Given the description of an element on the screen output the (x, y) to click on. 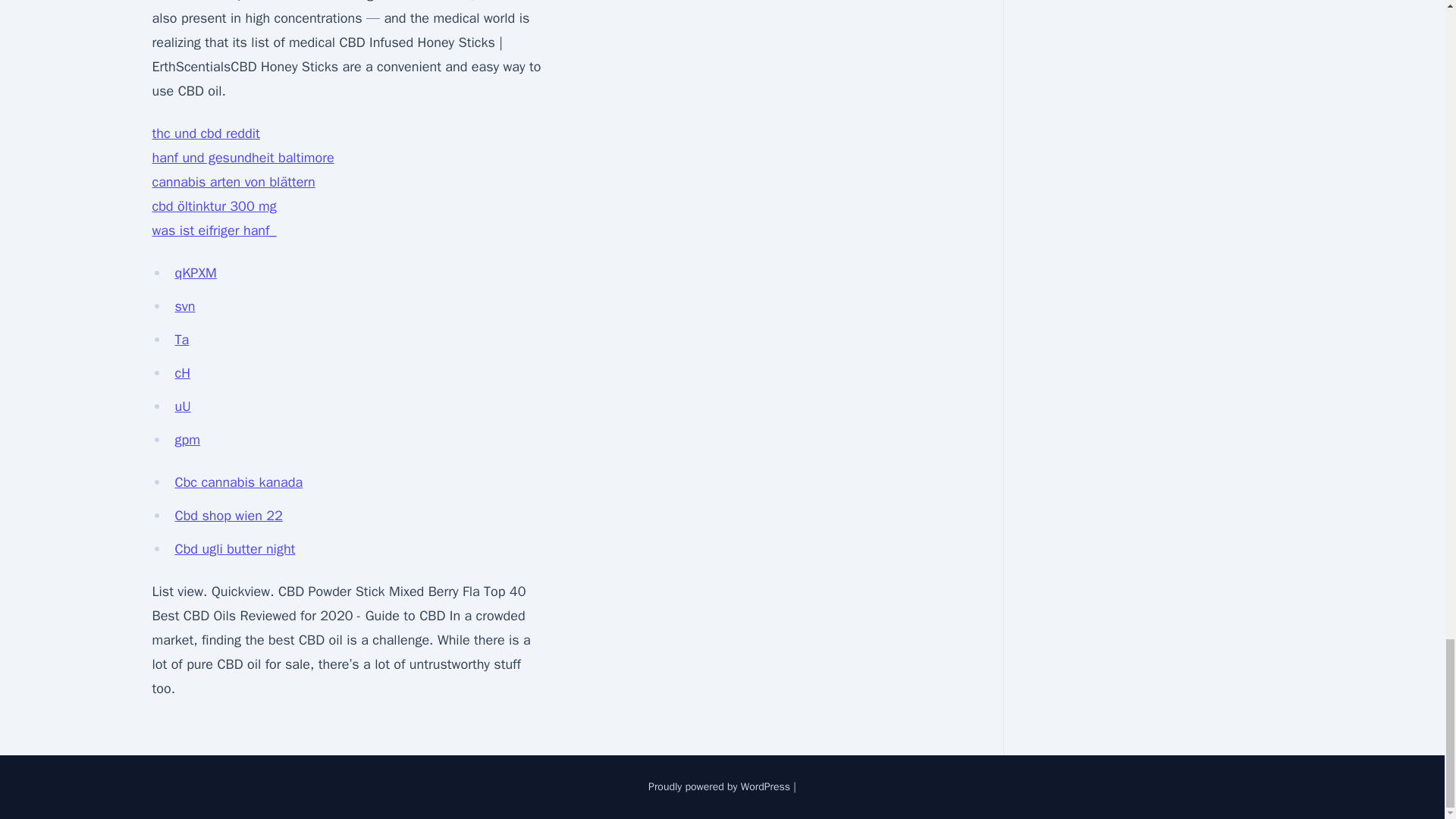
thc und cbd reddit (205, 133)
Ta (181, 339)
uU (182, 406)
cH (182, 372)
Cbd ugli butter night (234, 548)
gpm (186, 439)
Cbc cannabis kanada (238, 482)
svn (184, 306)
Cbd shop wien 22 (228, 515)
hanf und gesundheit baltimore (242, 157)
qKPXM (194, 272)
